Given the description of an element on the screen output the (x, y) to click on. 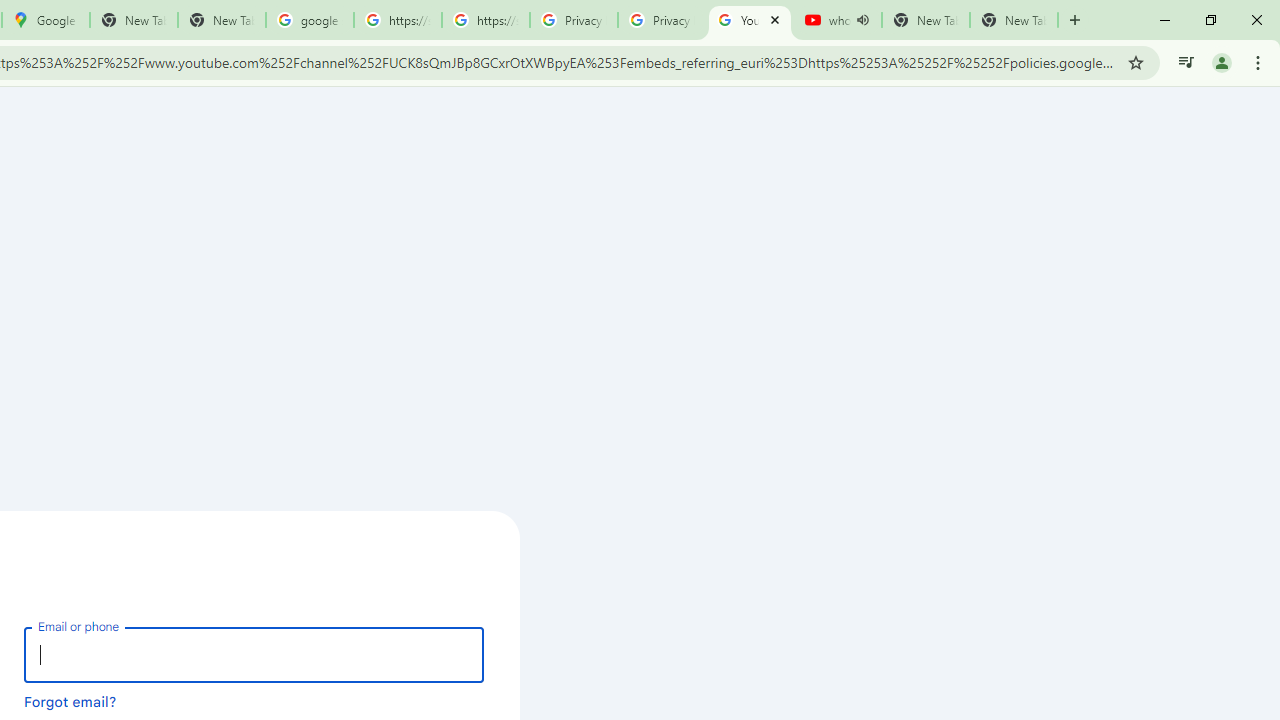
Forgot email? (70, 701)
